Given the description of an element on the screen output the (x, y) to click on. 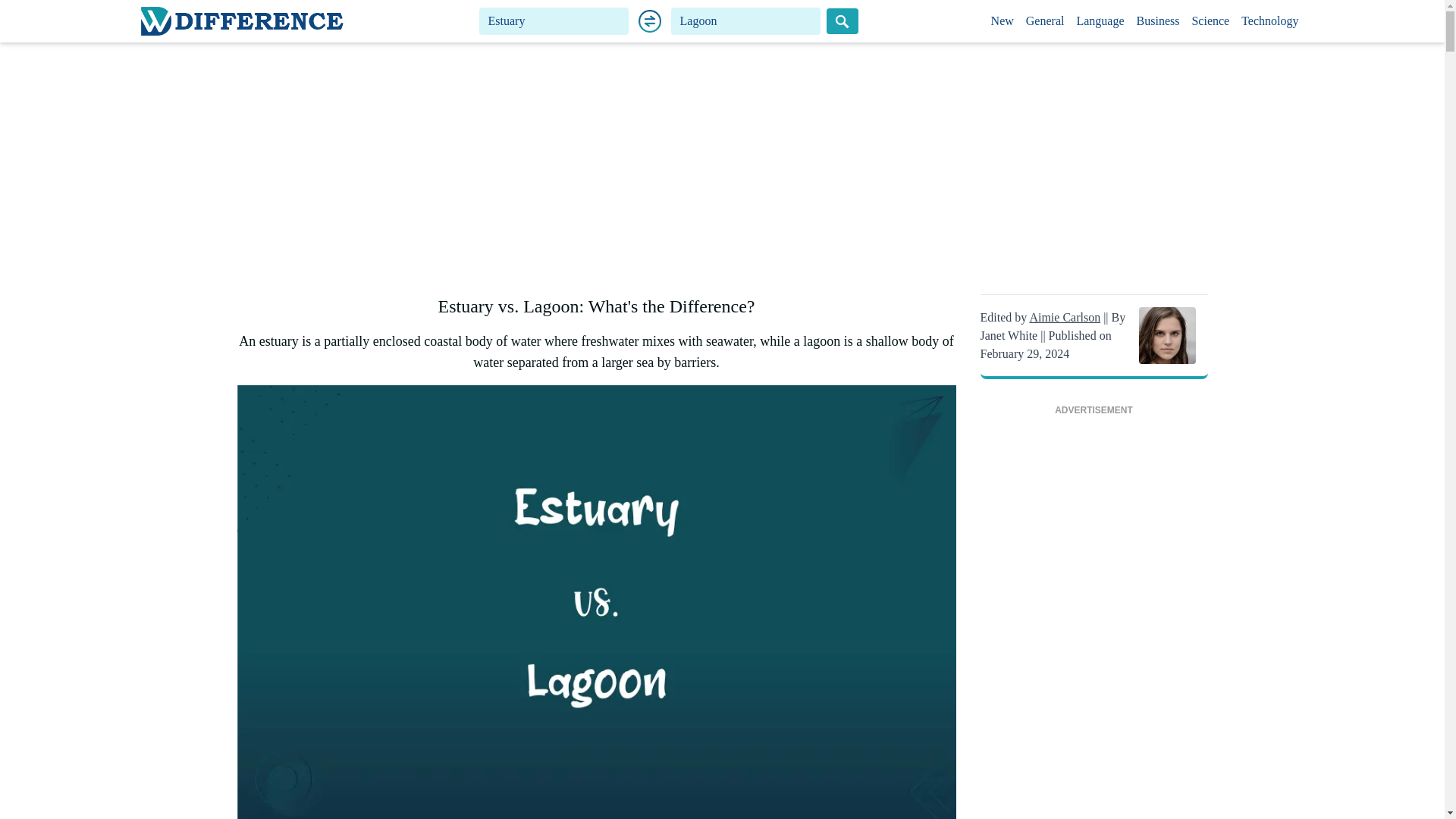
Science (1209, 21)
General (1045, 21)
Lagoon (746, 21)
Technology (1269, 21)
Estuary (553, 21)
New (1002, 21)
Language (1099, 21)
Advertisement (1093, 622)
Business (1158, 21)
